Given the description of an element on the screen output the (x, y) to click on. 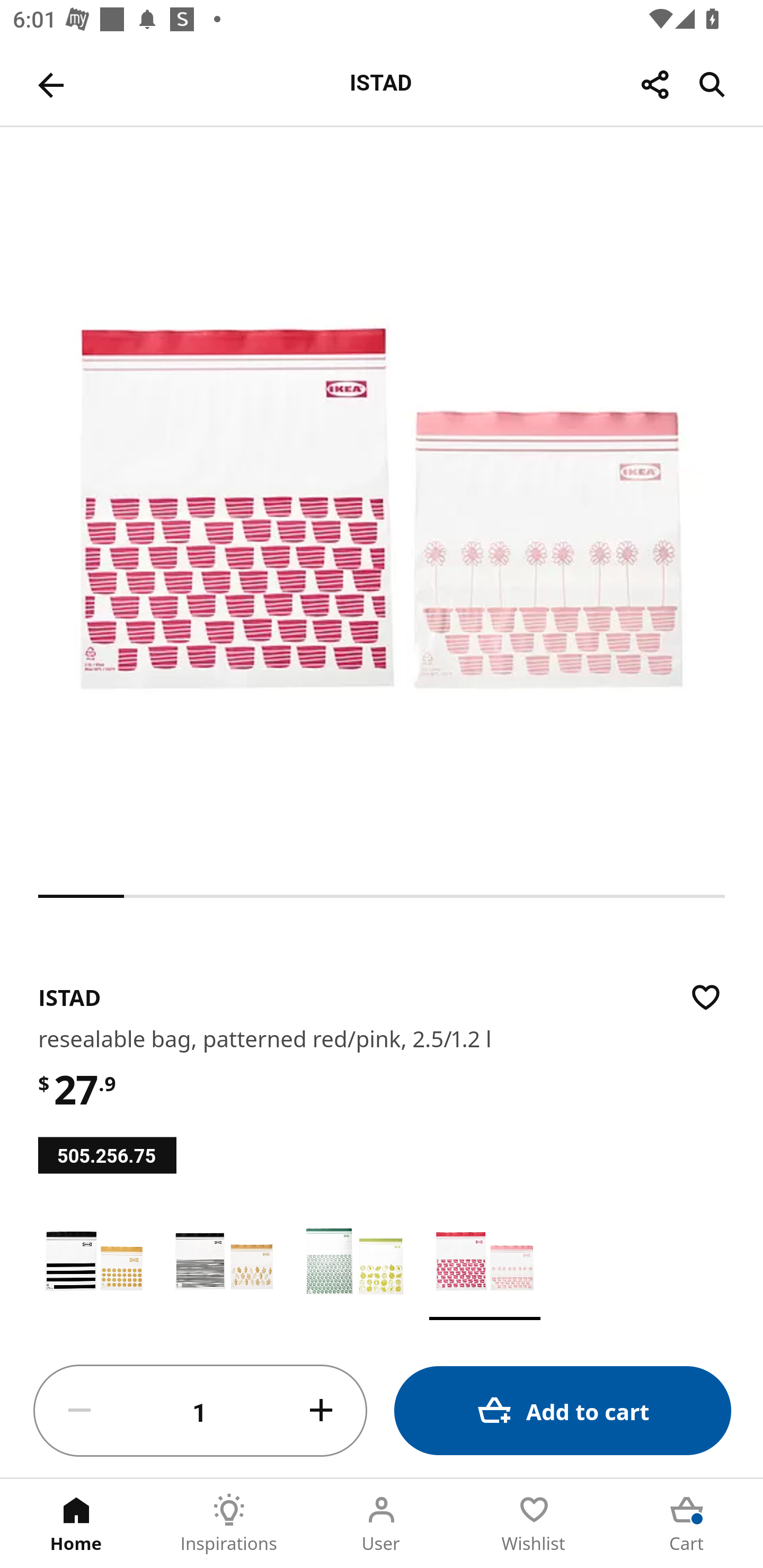
Add to cart (562, 1410)
1 (200, 1411)
Home
Tab 1 of 5 (76, 1522)
Inspirations
Tab 2 of 5 (228, 1522)
User
Tab 3 of 5 (381, 1522)
Wishlist
Tab 4 of 5 (533, 1522)
Cart
Tab 5 of 5 (686, 1522)
